Given the description of an element on the screen output the (x, y) to click on. 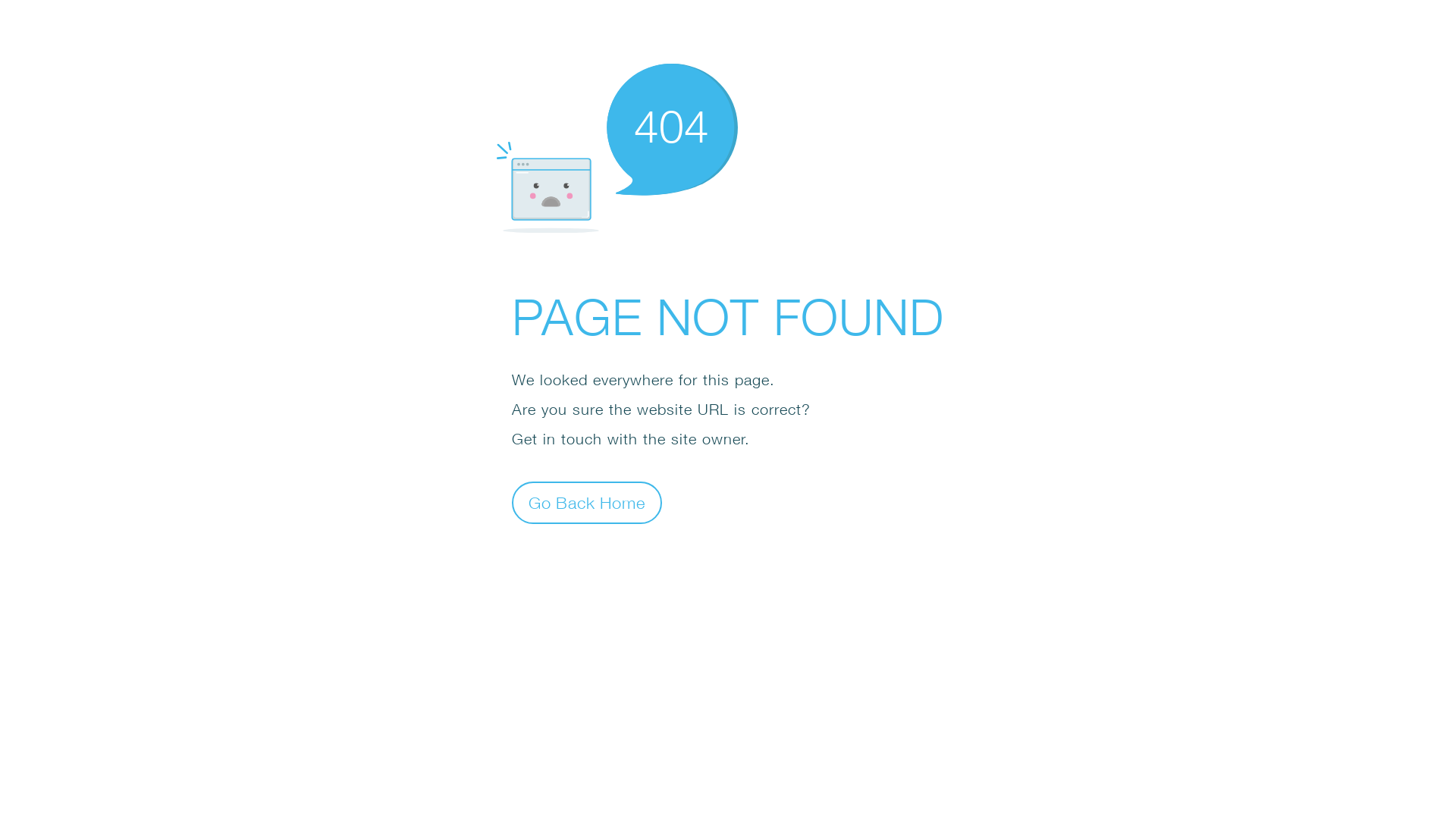
Go Back Home Element type: text (586, 502)
